Given the description of an element on the screen output the (x, y) to click on. 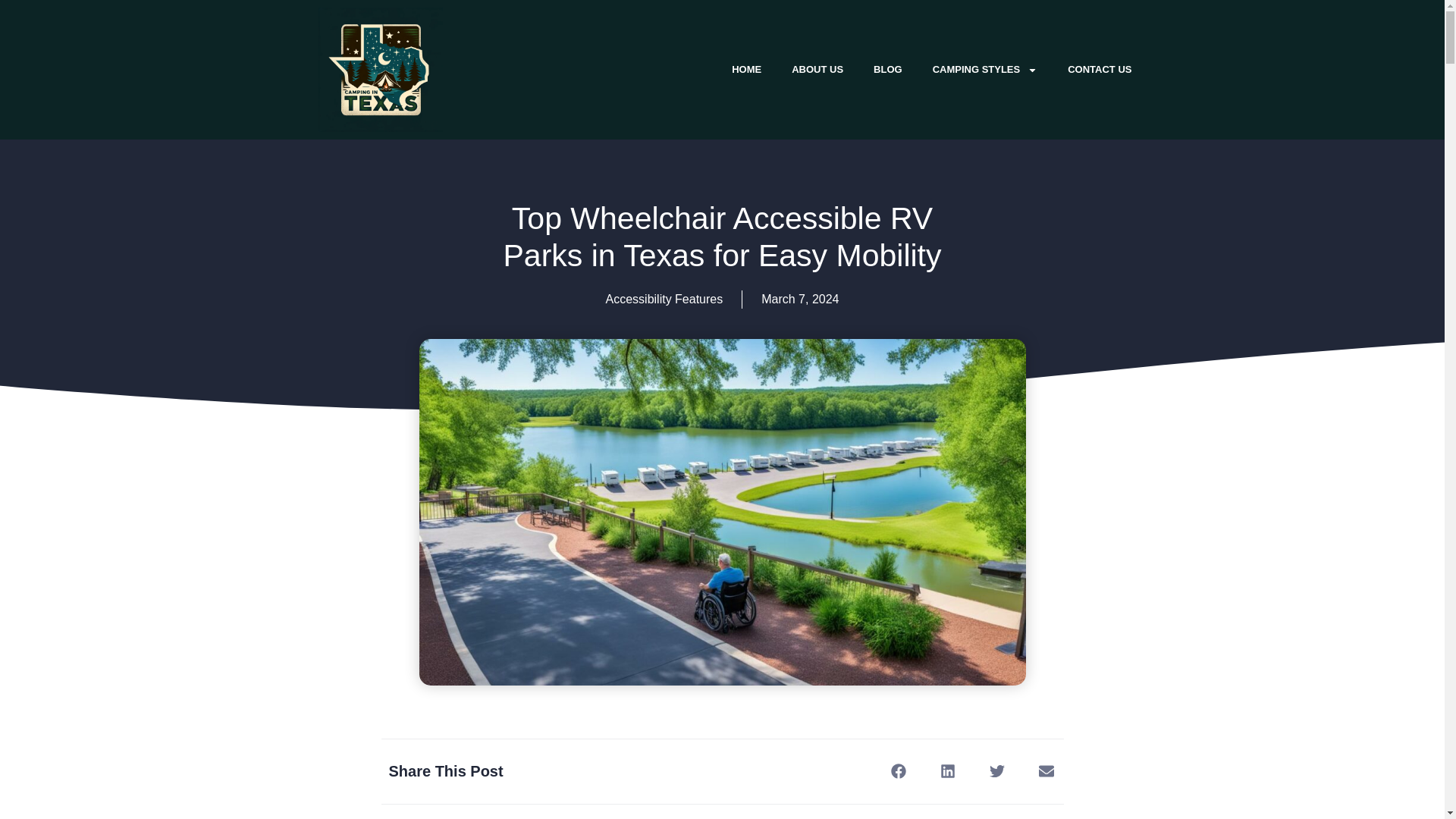
CONTACT US (1099, 69)
Accessibility Features (663, 298)
HOME (746, 69)
ABOUT US (817, 69)
BLOG (888, 69)
CAMPING STYLES (984, 69)
March 7, 2024 (799, 299)
